Given the description of an element on the screen output the (x, y) to click on. 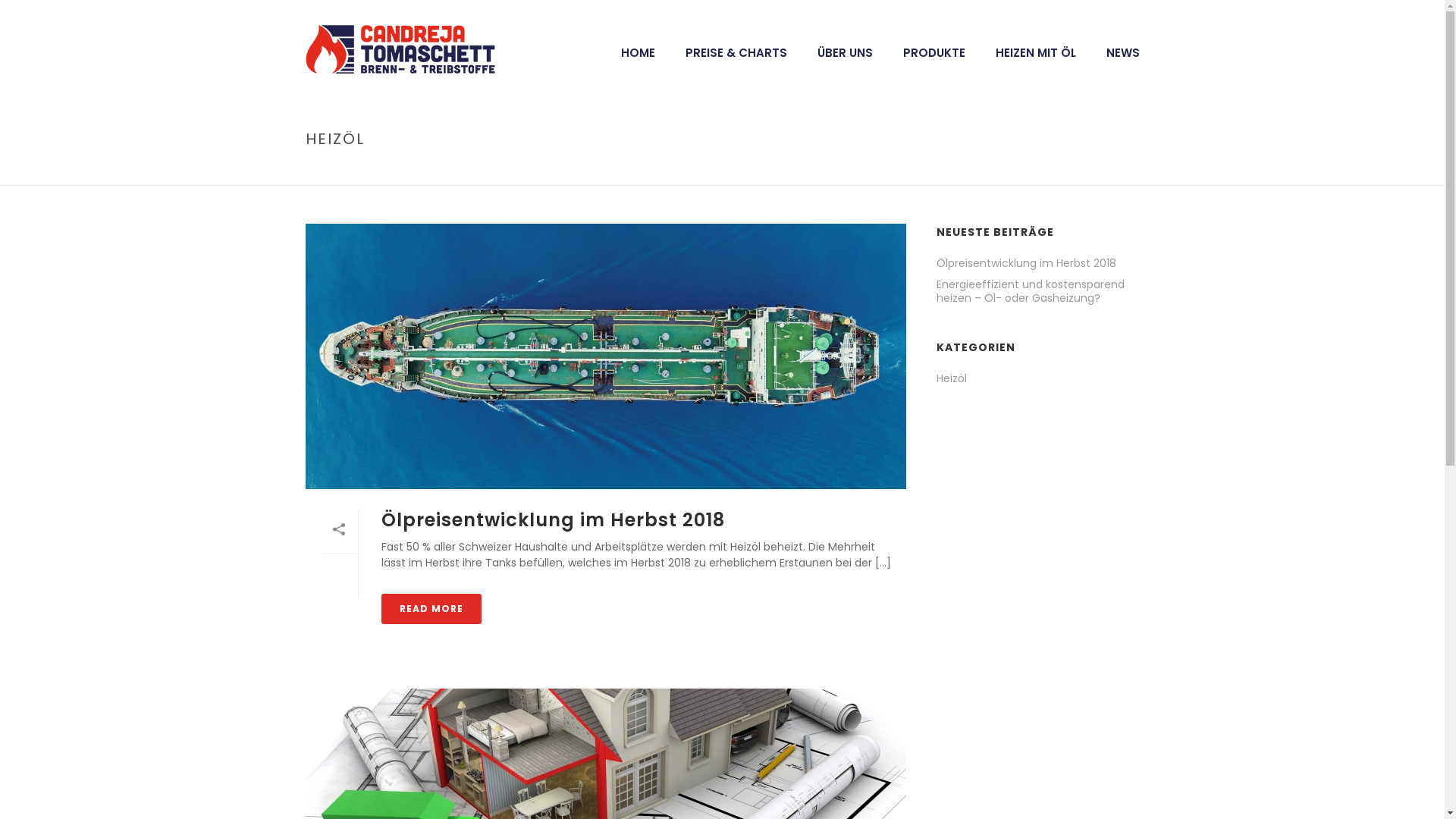
HOME Element type: text (637, 49)
NEWS Element type: text (1122, 49)
PREISE & CHARTS Element type: text (736, 49)
  Element type: text (604, 356)
READ MORE Element type: text (430, 608)
PRODUKTE Element type: text (933, 49)
STARTSEITE Element type: text (1059, 170)
